Given the description of an element on the screen output the (x, y) to click on. 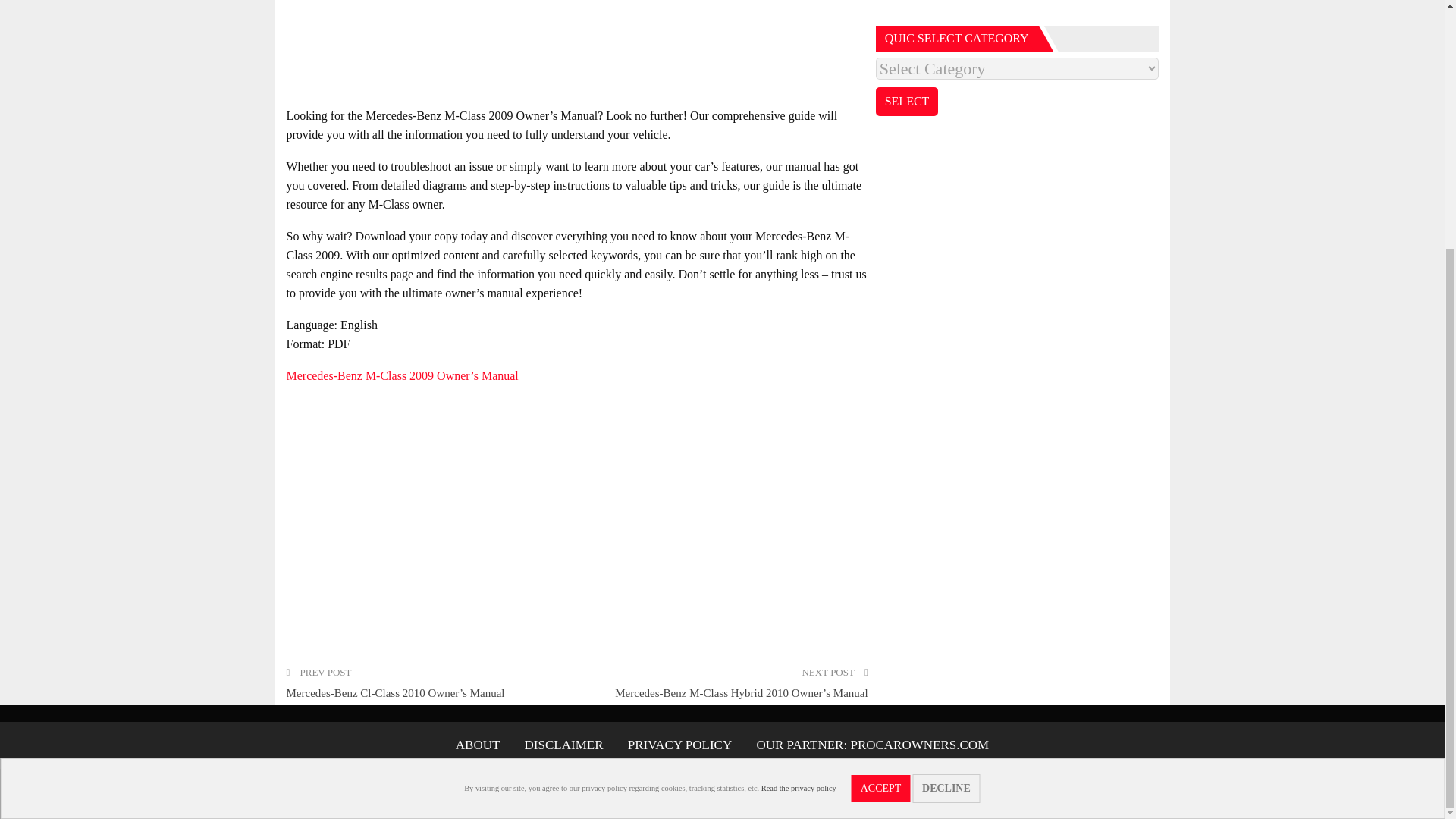
Advertisement (1017, 9)
ABOUT (477, 744)
Advertisement (576, 48)
ACCEPT (881, 438)
SELECT (907, 101)
Read the privacy policy (798, 438)
Advertisement (576, 506)
DECLINE (945, 439)
